Given the description of an element on the screen output the (x, y) to click on. 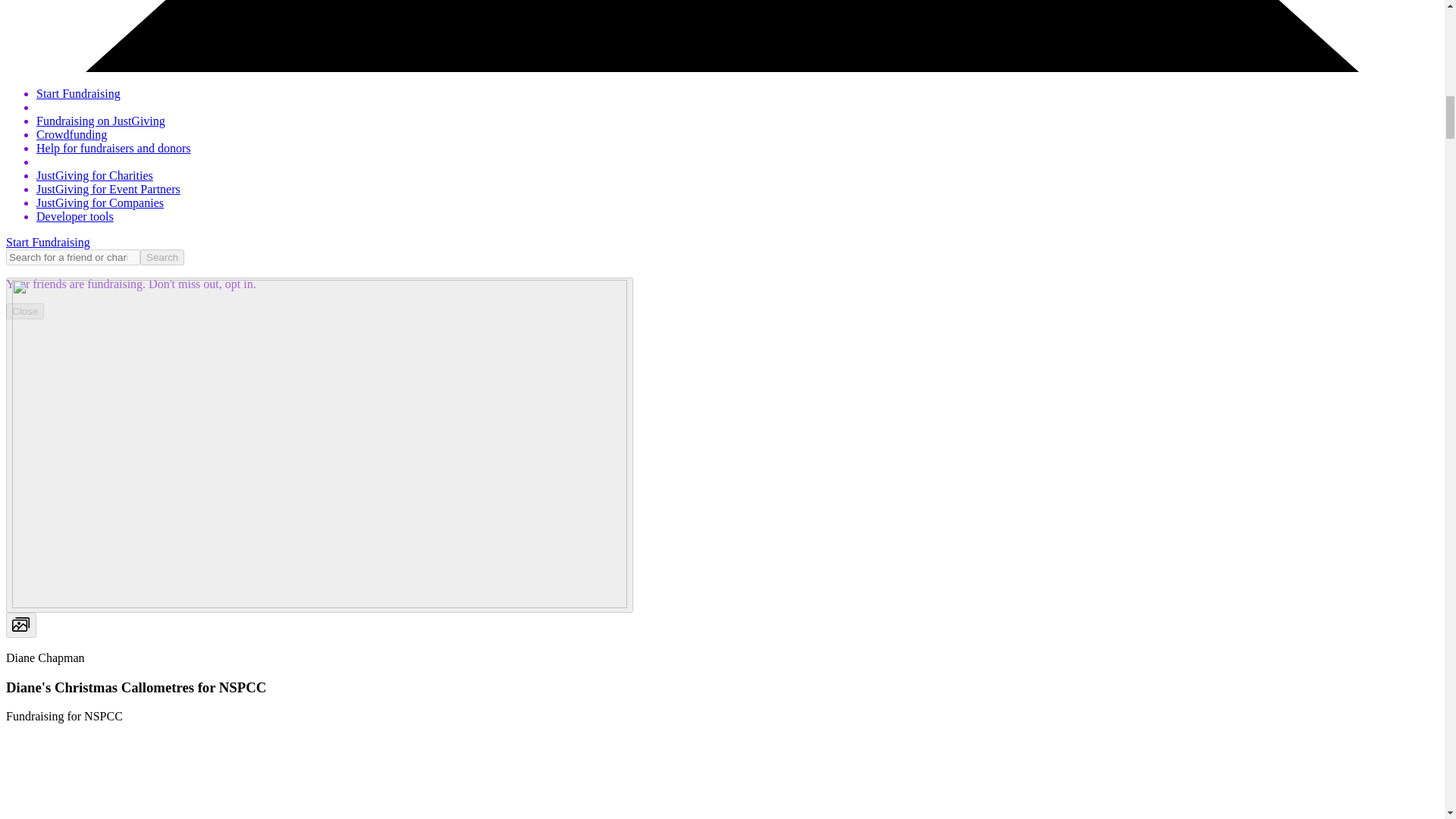
Crowdfunding (71, 133)
JustGiving for Event Partners (108, 188)
opt in. (239, 283)
Search (161, 257)
Search (161, 257)
Start Fundraising (78, 92)
Fundraising on JustGiving (100, 120)
JustGiving for Charities (94, 174)
Help for fundraisers and donors (113, 147)
Search (161, 257)
Developer tools (74, 215)
JustGiving for Companies (99, 202)
Start Fundraising (47, 241)
Close (24, 311)
